Given the description of an element on the screen output the (x, y) to click on. 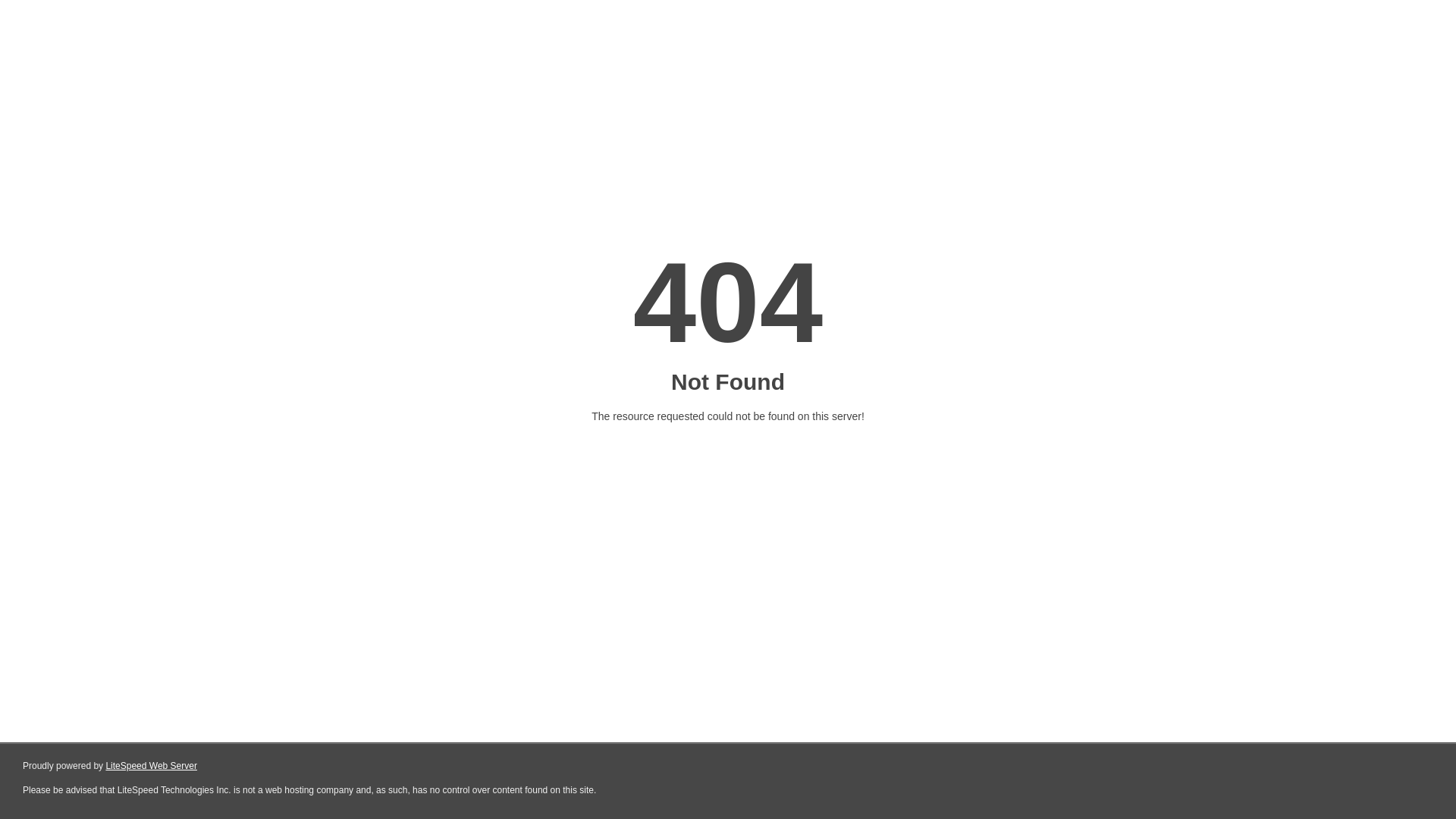
LiteSpeed Web Server Element type: text (151, 765)
